Given the description of an element on the screen output the (x, y) to click on. 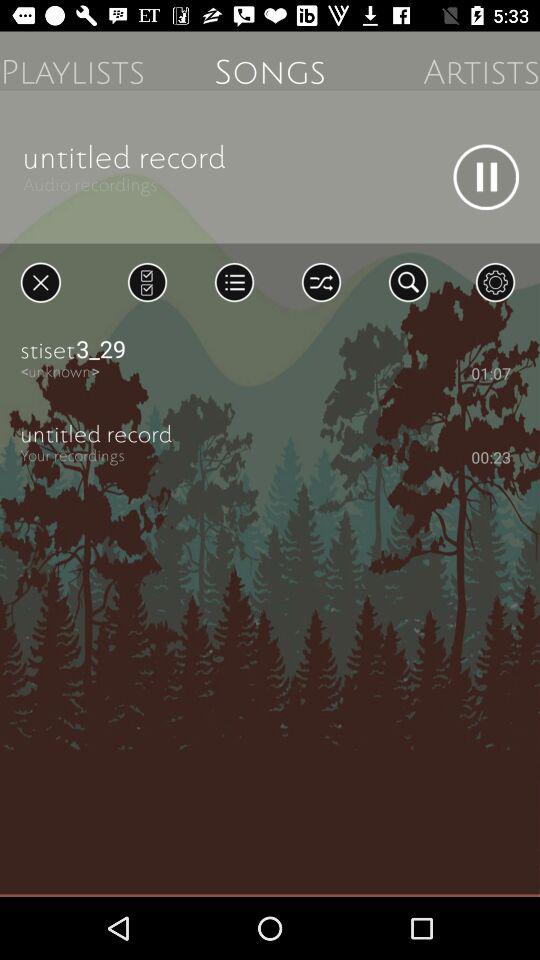
message button (147, 282)
